Given the description of an element on the screen output the (x, y) to click on. 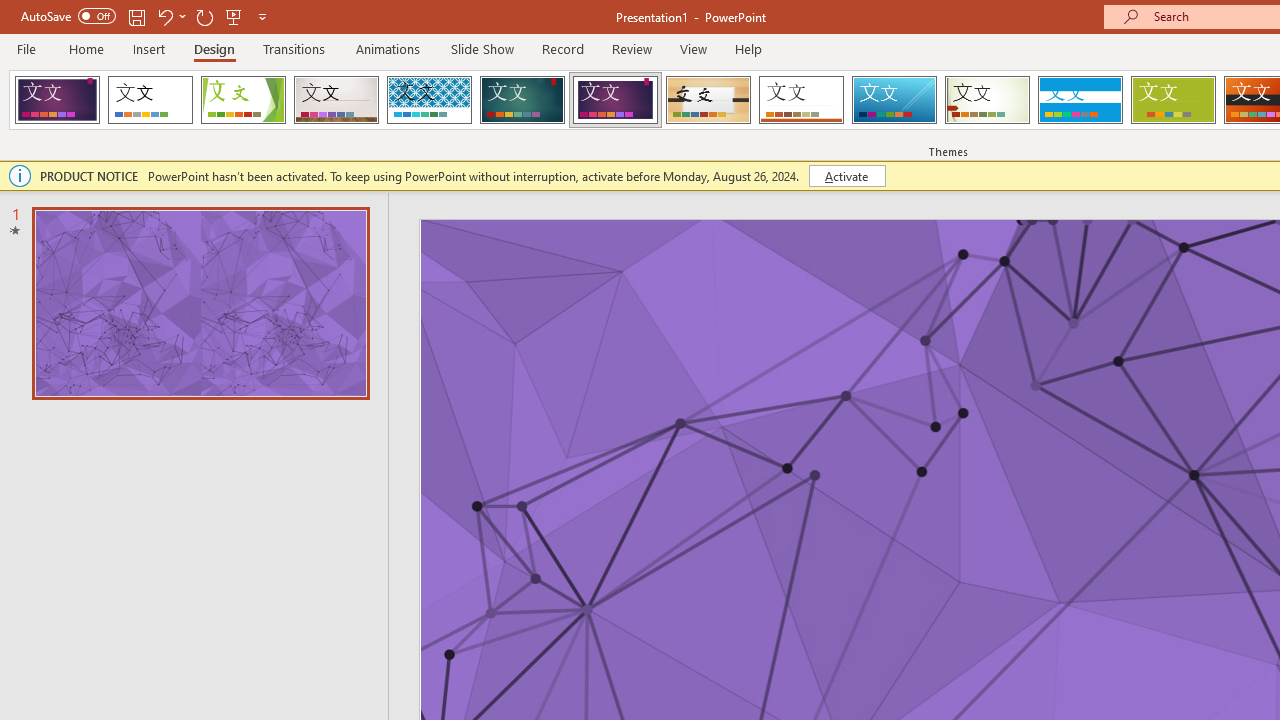
FadeVTI (57, 100)
Wisp (987, 100)
Retrospect (801, 100)
Basis (1172, 100)
